Given the description of an element on the screen output the (x, y) to click on. 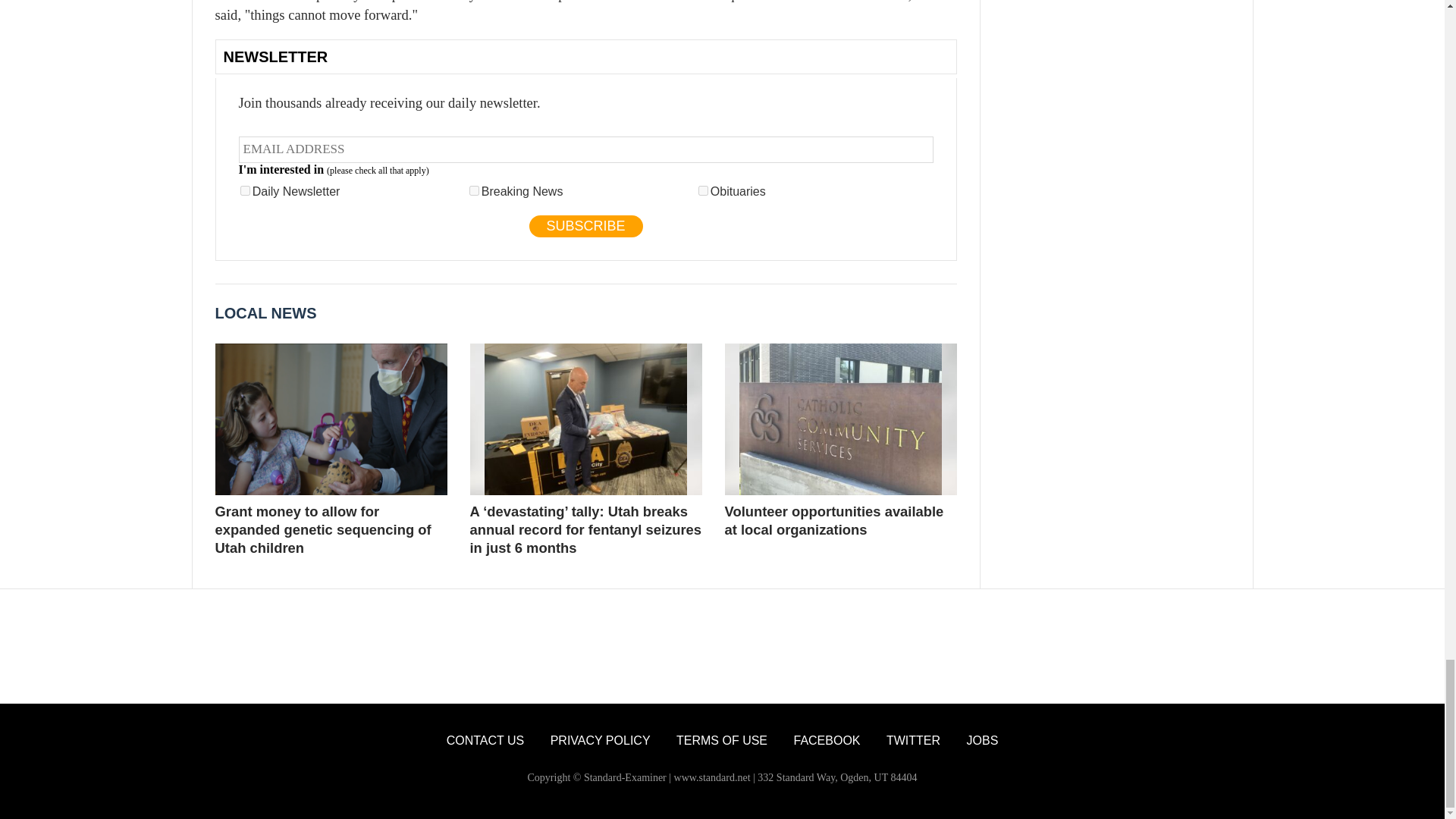
4 (702, 190)
1 (245, 190)
3rd party ad content (721, 645)
2 (473, 190)
Subscribe (586, 226)
